Given the description of an element on the screen output the (x, y) to click on. 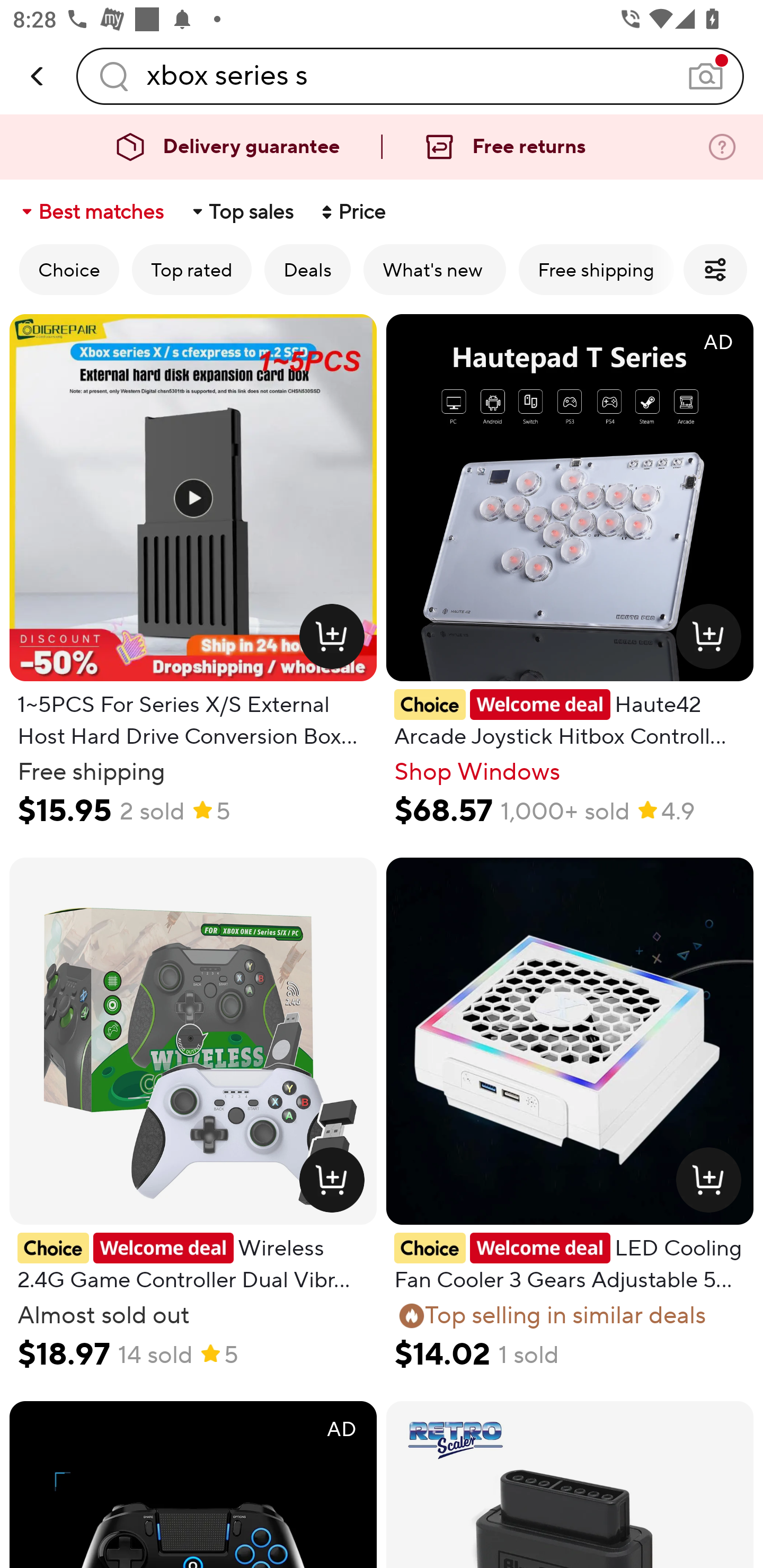
back (38, 75)
xbox series s Search query (409, 76)
xbox series s Search query (409, 76)
Best matches (91, 212)
Top sales (241, 212)
Price (352, 212)
Choice (69, 269)
Top rated (191, 269)
Deals (307, 269)
What's new  (434, 269)
Free shipping (595, 269)
